Given the description of an element on the screen output the (x, y) to click on. 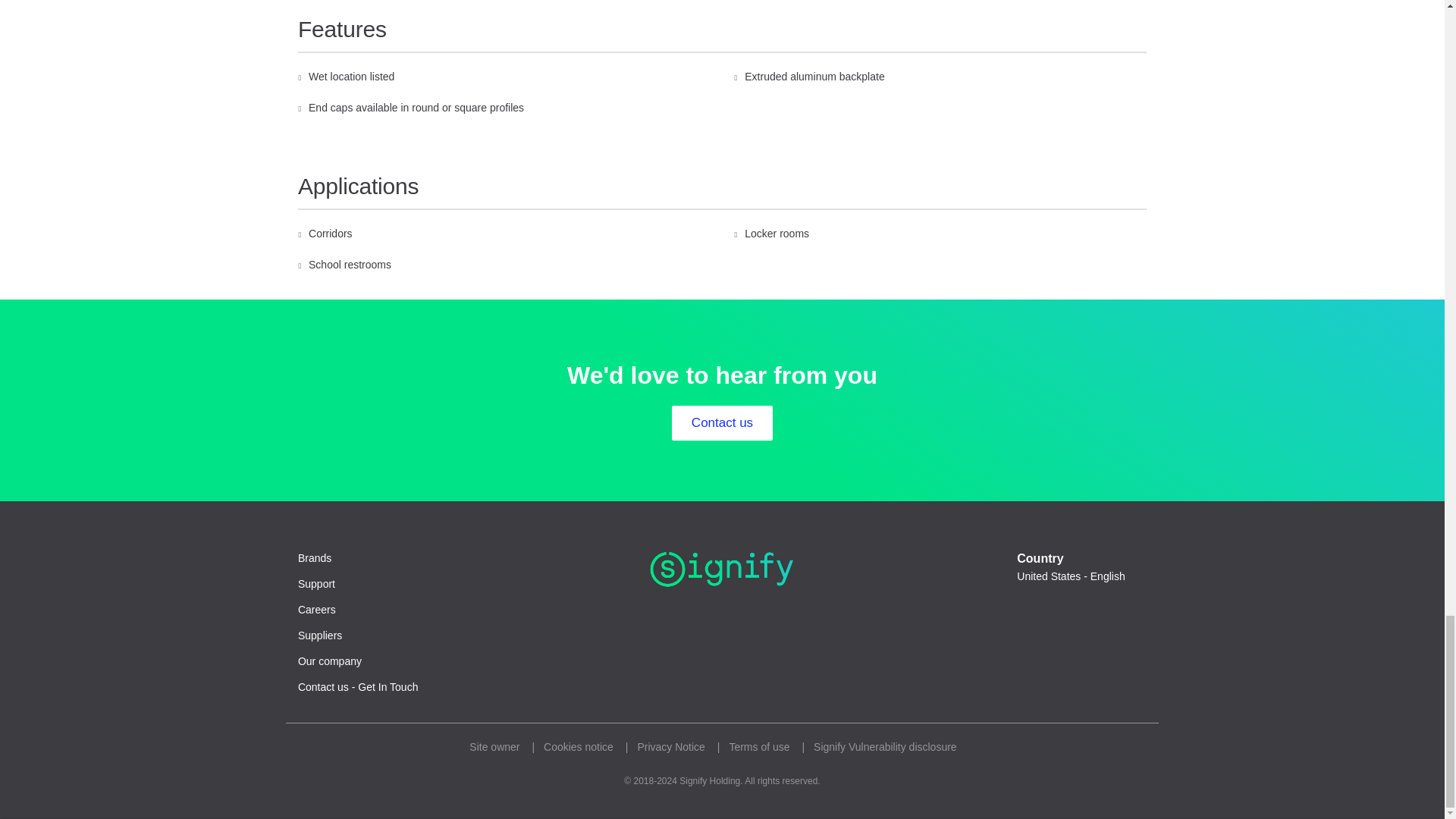
Suppliers (320, 635)
Country (1077, 576)
Support (316, 584)
Contact us (722, 422)
Terms of use (759, 747)
Signify Vulnerability disclosure (884, 747)
Contact us - Get In Touch (358, 687)
Signify logo (721, 568)
Site owner (493, 747)
Our company (329, 661)
Careers (317, 609)
Cookies notice (577, 747)
Privacy Notice (670, 747)
Brands (314, 558)
